Given the description of an element on the screen output the (x, y) to click on. 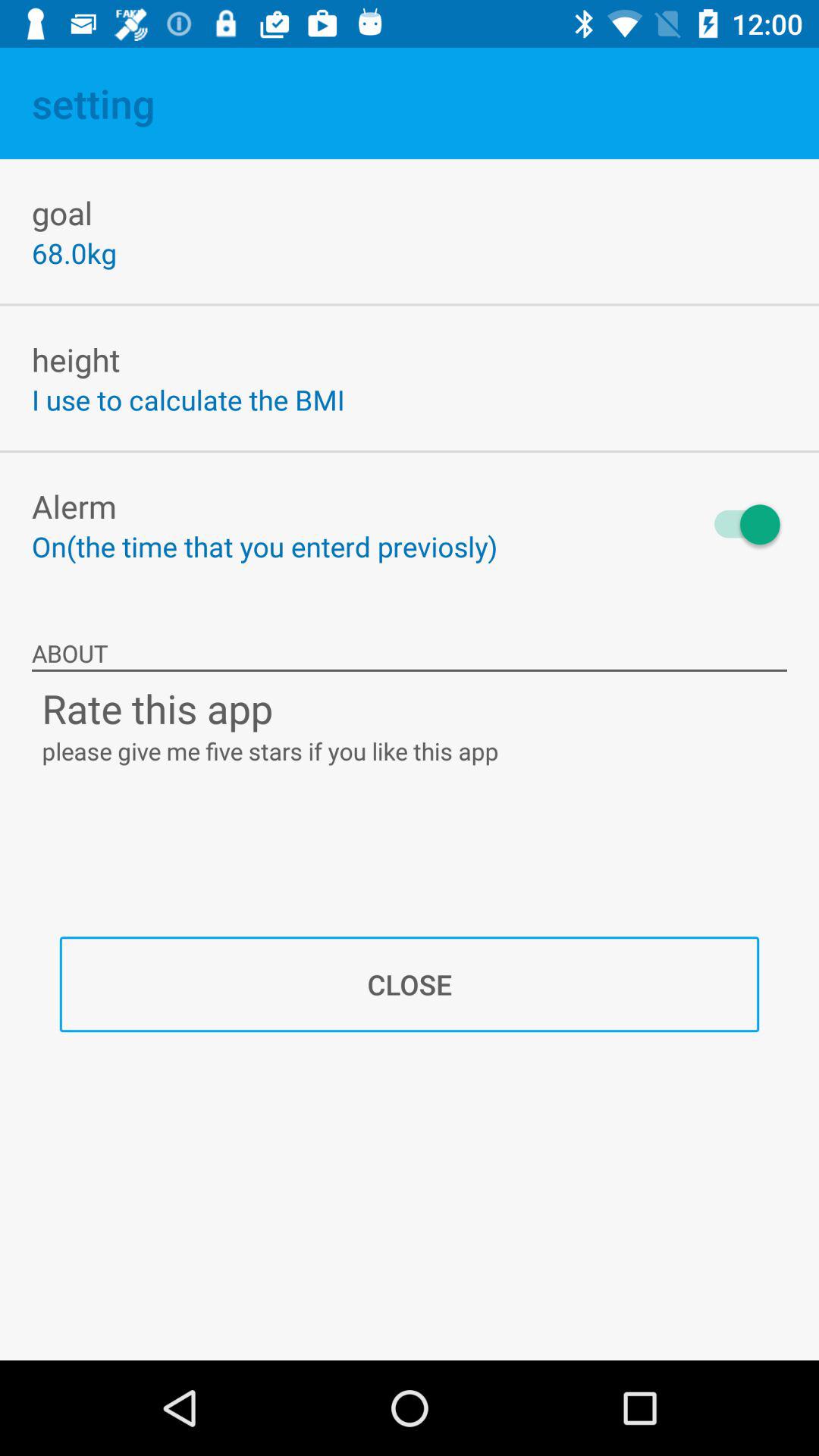
tap icon on the right (739, 524)
